Given the description of an element on the screen output the (x, y) to click on. 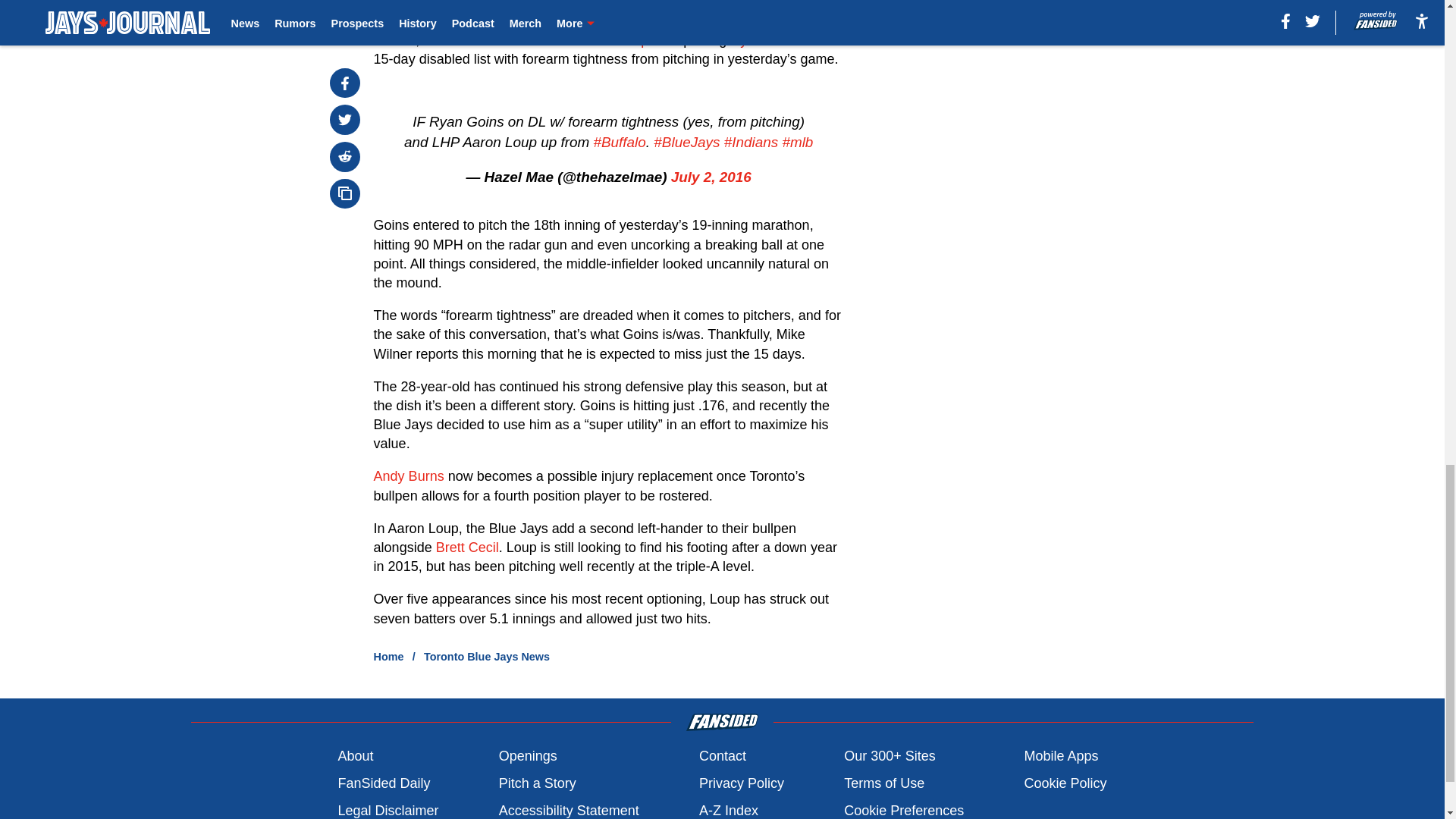
Andy Burns (409, 476)
July 2, 2016 (711, 176)
Aaron Loup (612, 39)
Ryan Goins (766, 39)
